Given the description of an element on the screen output the (x, y) to click on. 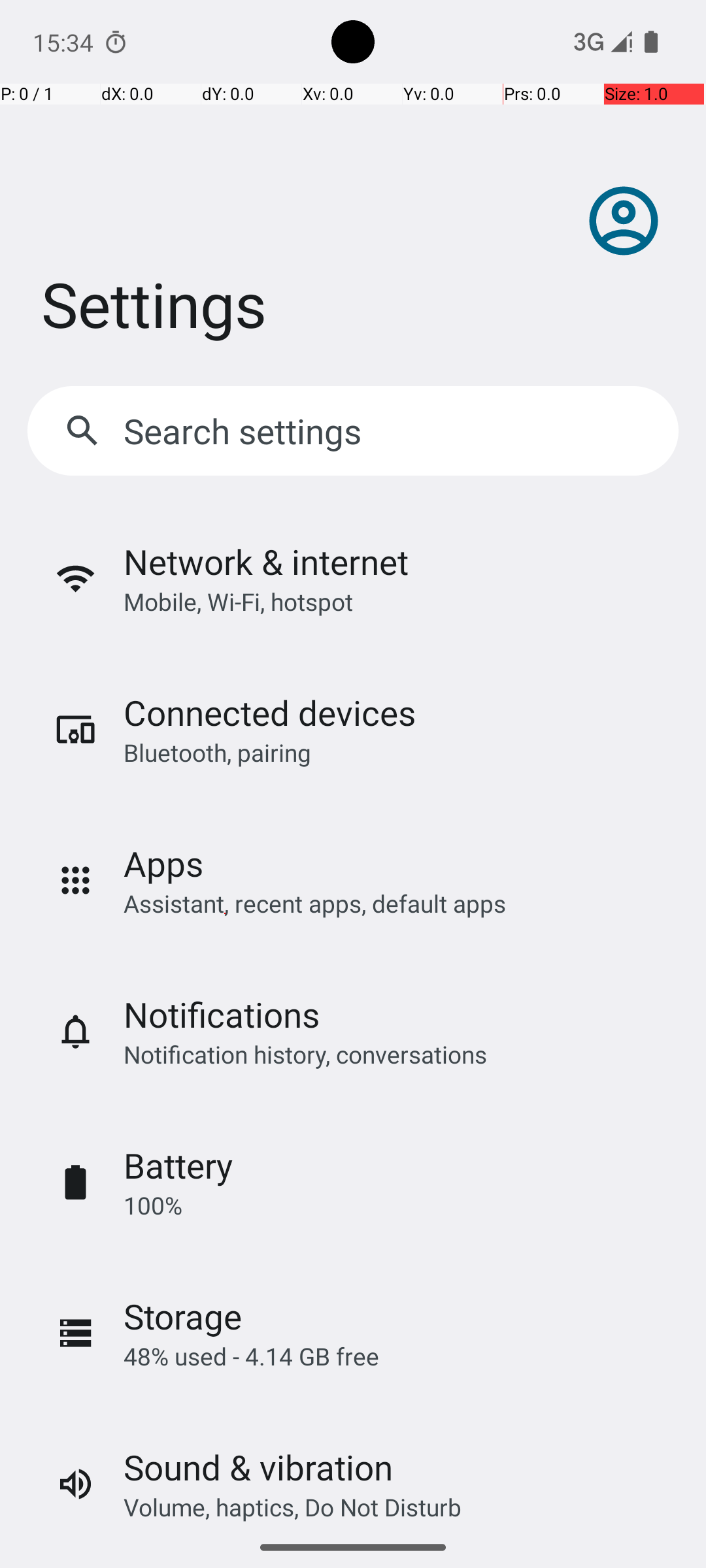
48% used - 4.14 GB free Element type: android.widget.TextView (251, 1355)
